Given the description of an element on the screen output the (x, y) to click on. 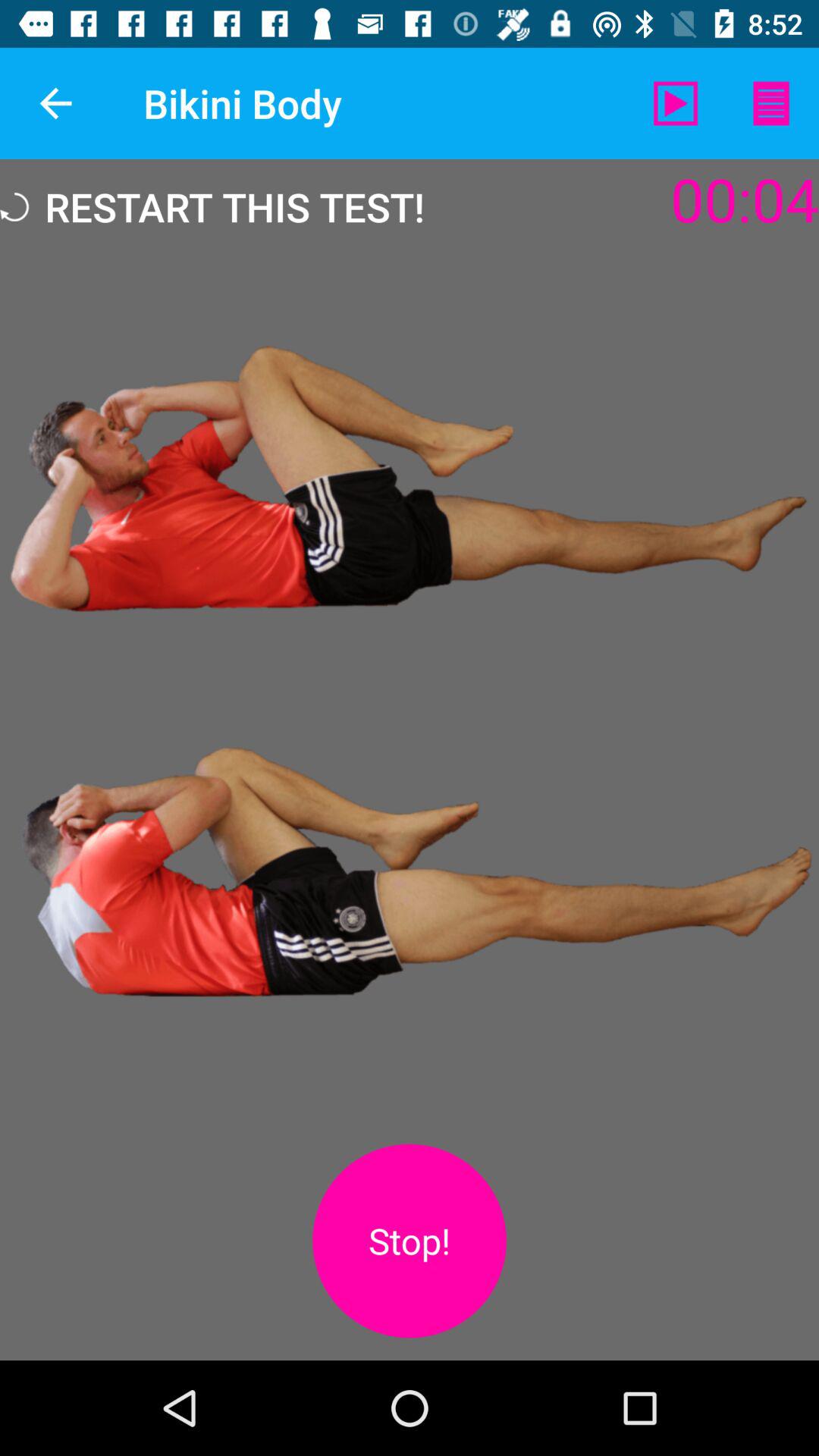
click the icon next to the bikini body app (55, 103)
